Given the description of an element on the screen output the (x, y) to click on. 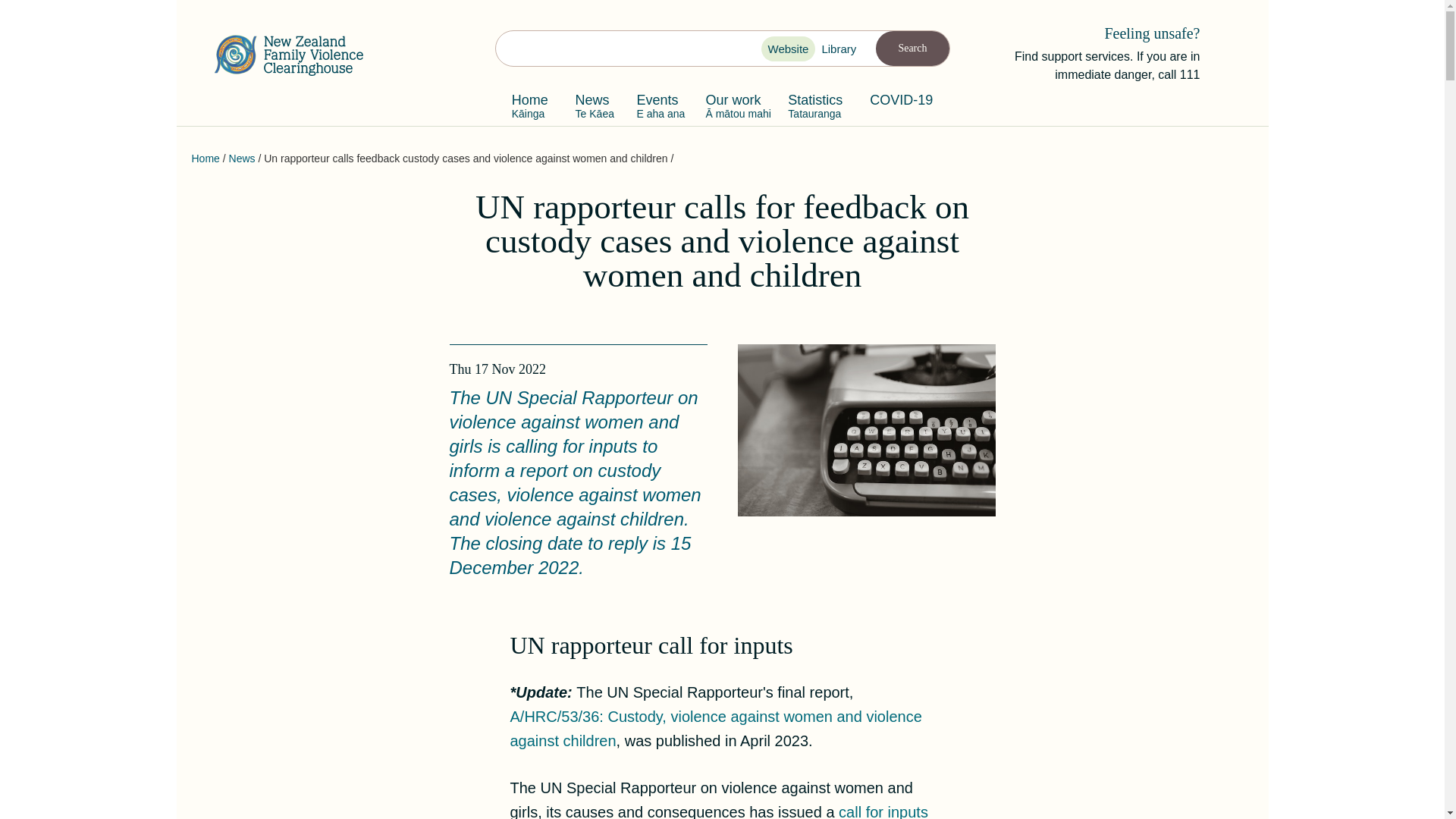
on (815, 103)
Home (826, 50)
on (657, 103)
Search (294, 55)
Statistics - Tatauranga (772, 50)
Home (912, 48)
News (815, 103)
Skip to main content (204, 158)
Covid-19 - Mate Korona (242, 158)
Events - E aha ana (900, 103)
